Given the description of an element on the screen output the (x, y) to click on. 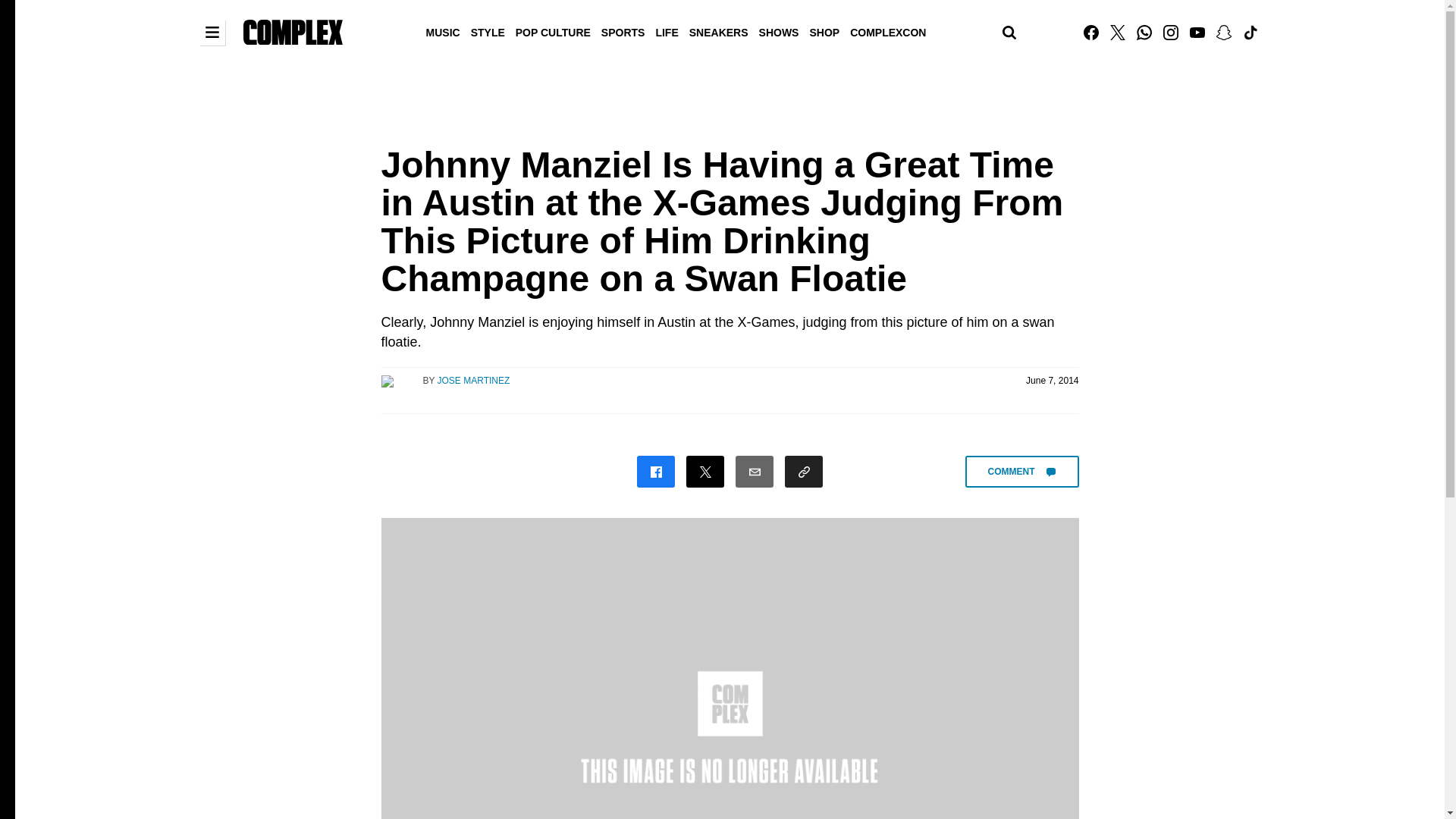
POP CULTURE (553, 30)
STYLE (488, 30)
SHOWS (779, 30)
MUSIC (442, 30)
SPORTS (622, 30)
LIFE (665, 30)
SNEAKERS (719, 30)
COMPLEXCON (887, 30)
SHOP (823, 30)
